Given the description of an element on the screen output the (x, y) to click on. 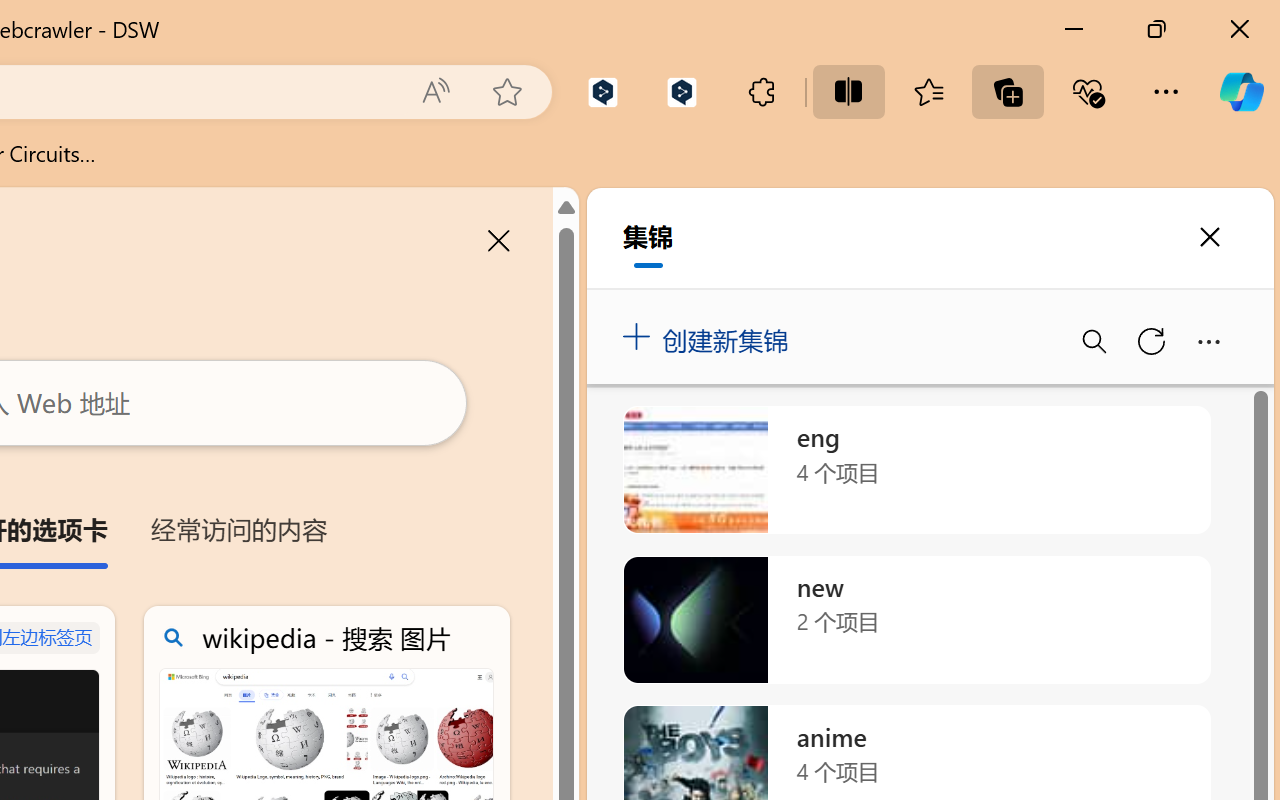
Copilot (Ctrl+Shift+.) (1241, 91)
